Given the description of an element on the screen output the (x, y) to click on. 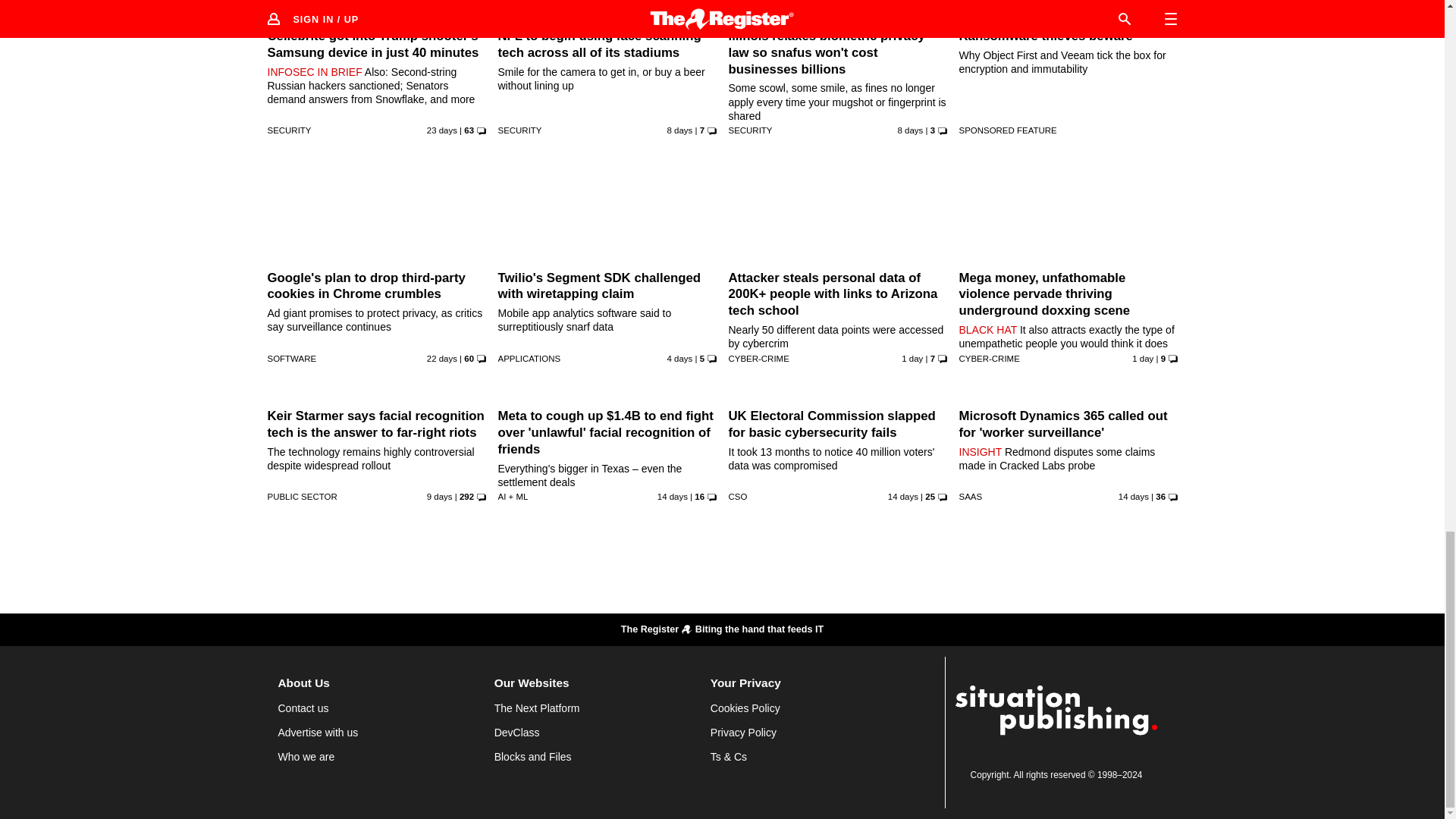
6 Aug 2024 2:45 (910, 130)
23 Jul 2024 0:3 (441, 358)
12 Aug 2024 14:24 (1142, 358)
6 Aug 2024 1:43 (679, 130)
12 Aug 2024 16:25 (912, 358)
22 Jul 2024 3:44 (441, 130)
30 Jul 2024 19:22 (672, 496)
5 Aug 2024 9:24 (439, 496)
9 Aug 2024 23:28 (679, 358)
